Given the description of an element on the screen output the (x, y) to click on. 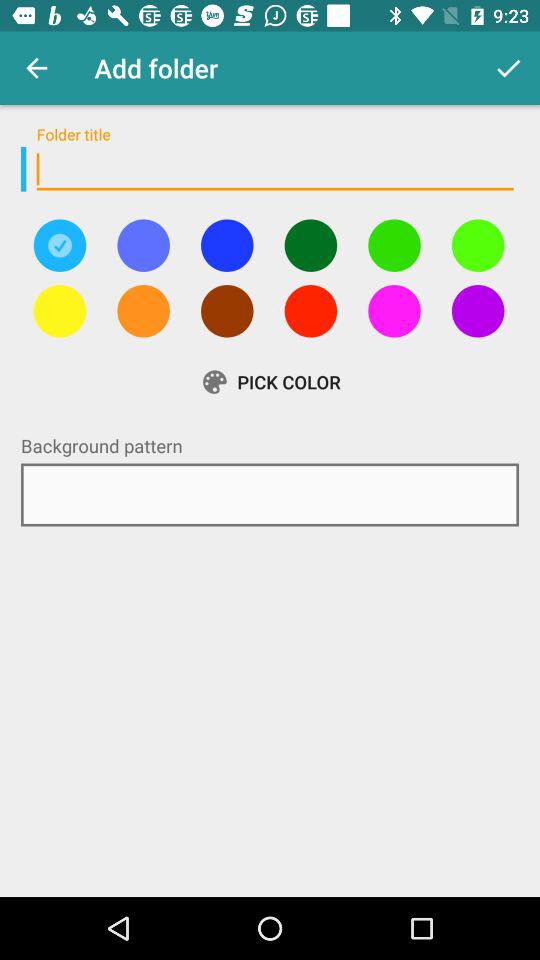
pick color (227, 245)
